Given the description of an element on the screen output the (x, y) to click on. 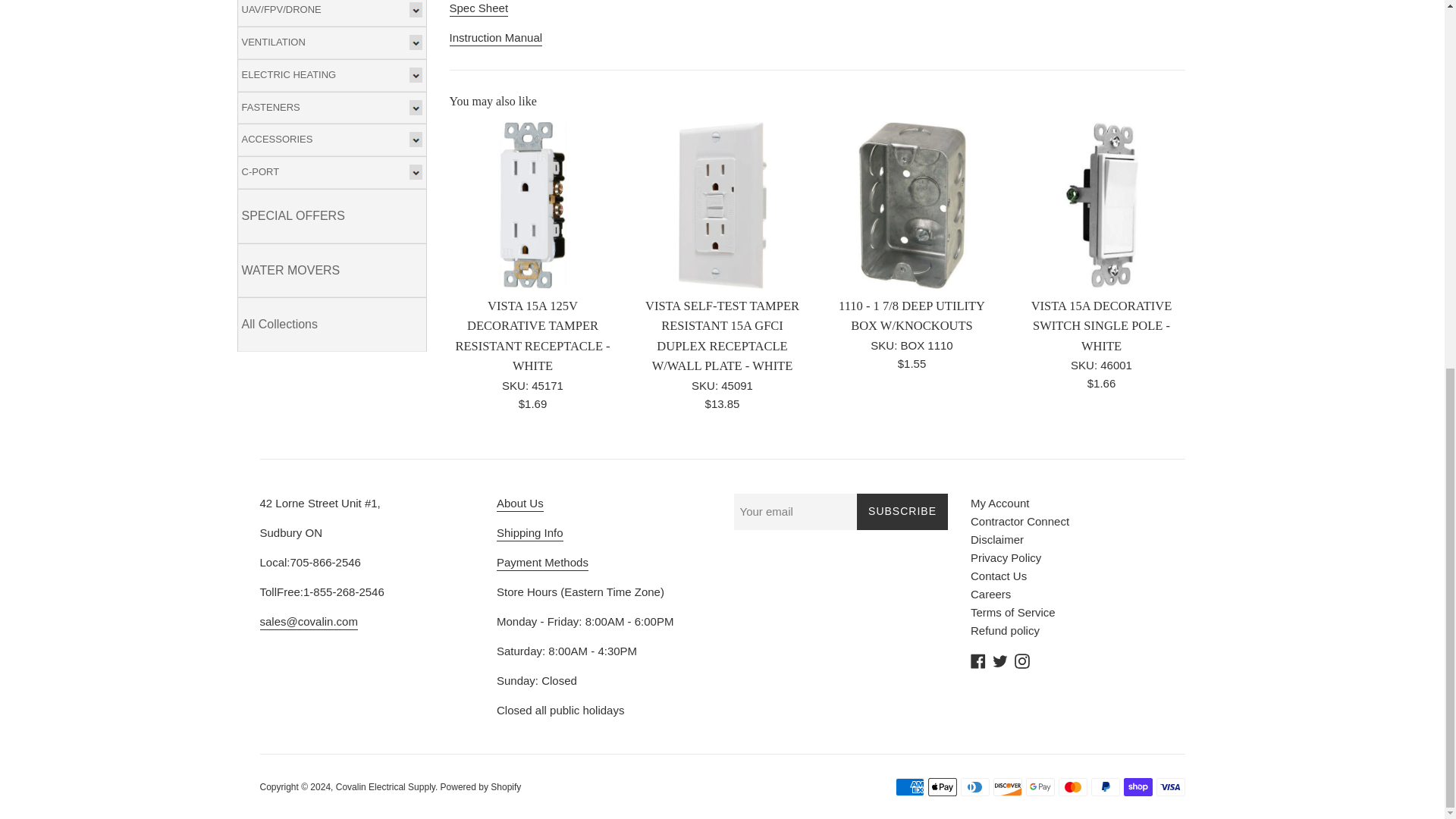
Covalin Electrical Supply on Twitter (999, 659)
Covalin Electrical Supply on Facebook (978, 659)
Mastercard (1072, 787)
Discover (1007, 787)
Diners Club (973, 787)
Covalin Electrical Supply on Instagram (1021, 659)
American Express (909, 787)
shipping info (529, 533)
Email (307, 622)
Apple Pay (942, 787)
